Given the description of an element on the screen output the (x, y) to click on. 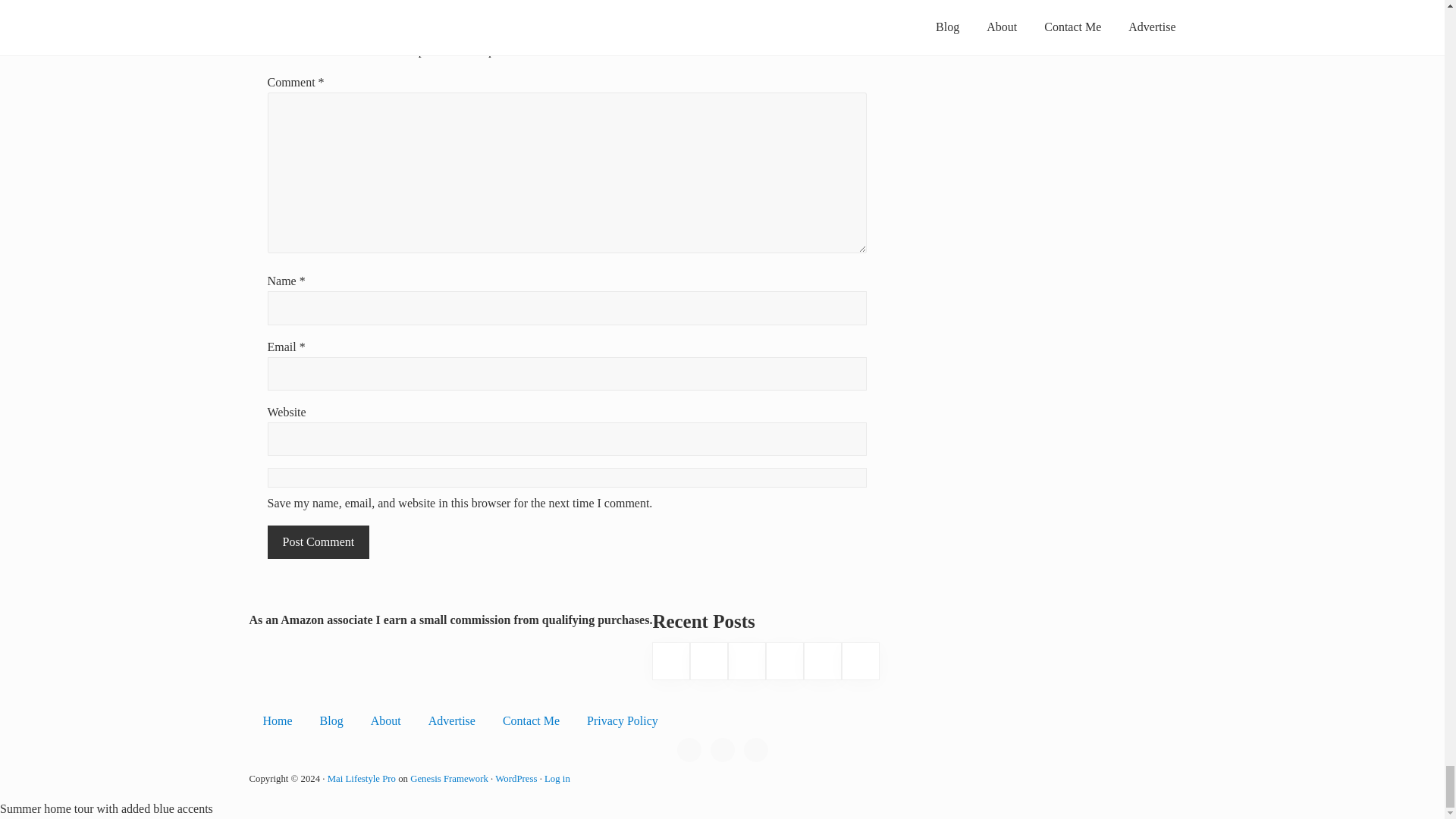
Post Comment (317, 541)
yes (566, 477)
